Given the description of an element on the screen output the (x, y) to click on. 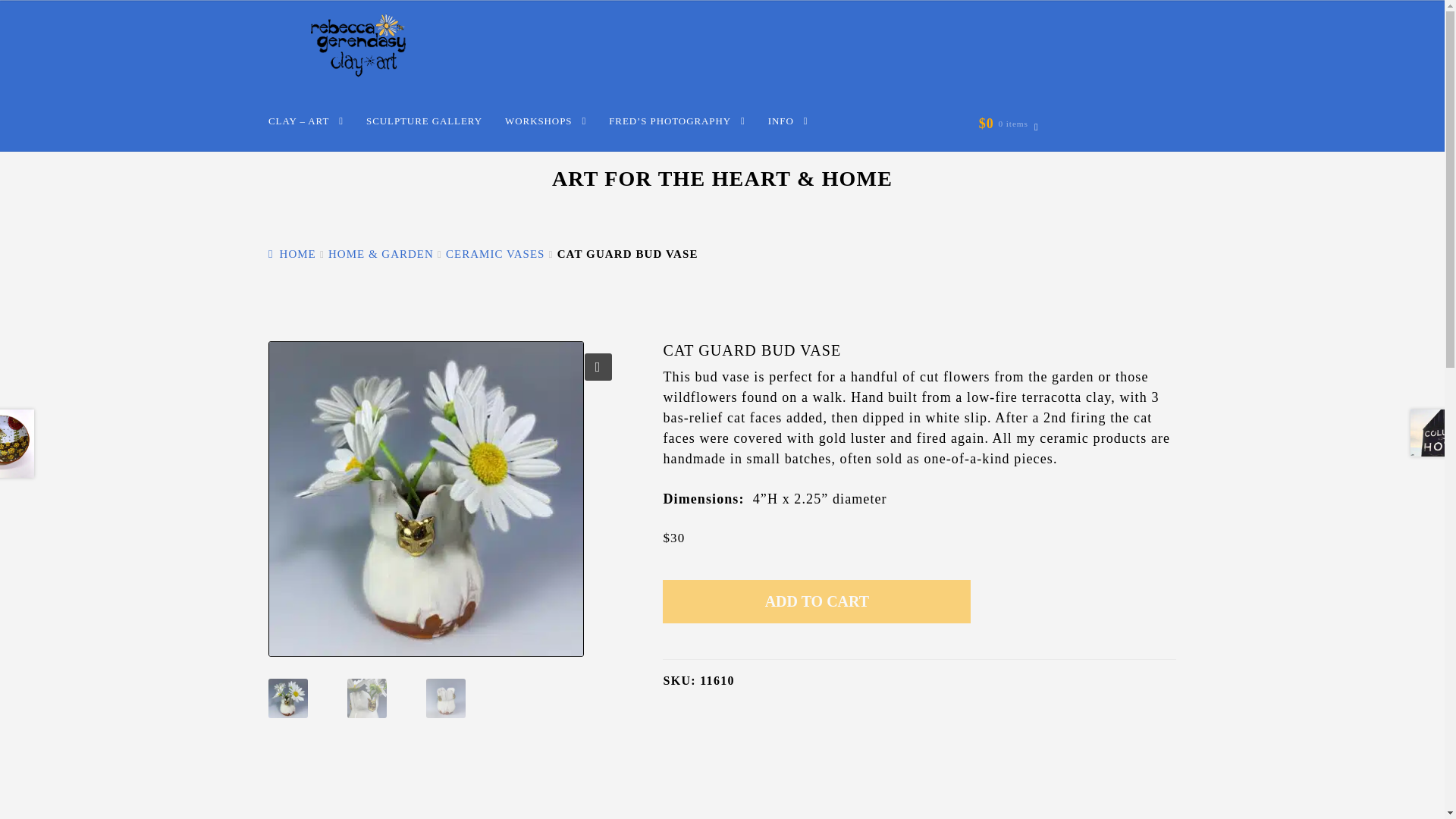
Cat Guard Ceramic Bud Vase (445, 498)
INFO (788, 120)
SCULPTURE GALLERY (424, 120)
WORKSHOPS (545, 120)
View your shopping cart (1008, 123)
